Given the description of an element on the screen output the (x, y) to click on. 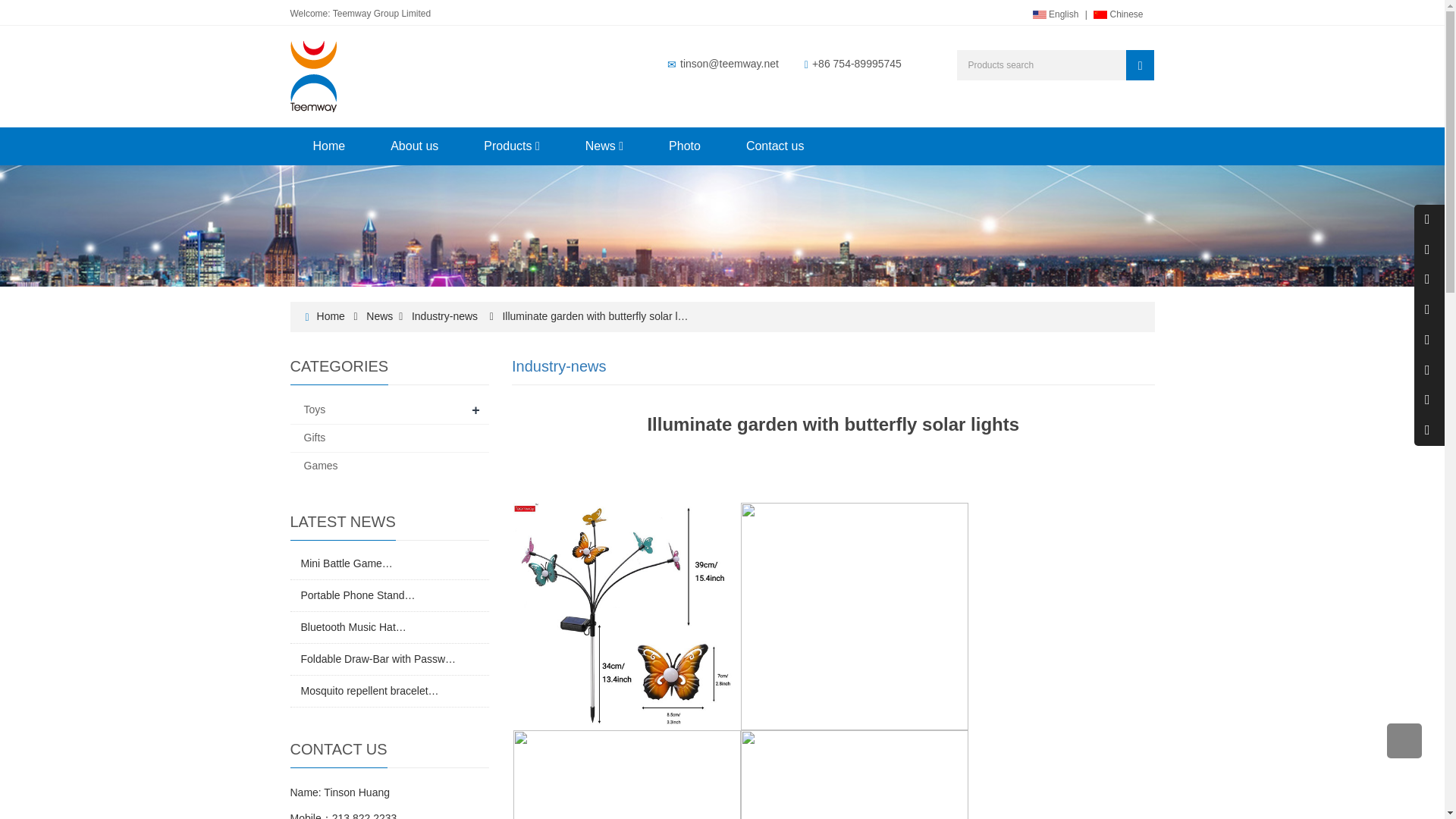
Industry-news (444, 316)
Mosquito repellent bracelet (368, 690)
News (379, 316)
Home (331, 316)
Foldable Draw-Bar with Password Padlock (377, 658)
Industry-news (559, 365)
Products search (1139, 64)
Home (328, 146)
Chinese (1118, 14)
Mini Battle Game (345, 563)
